Given the description of an element on the screen output the (x, y) to click on. 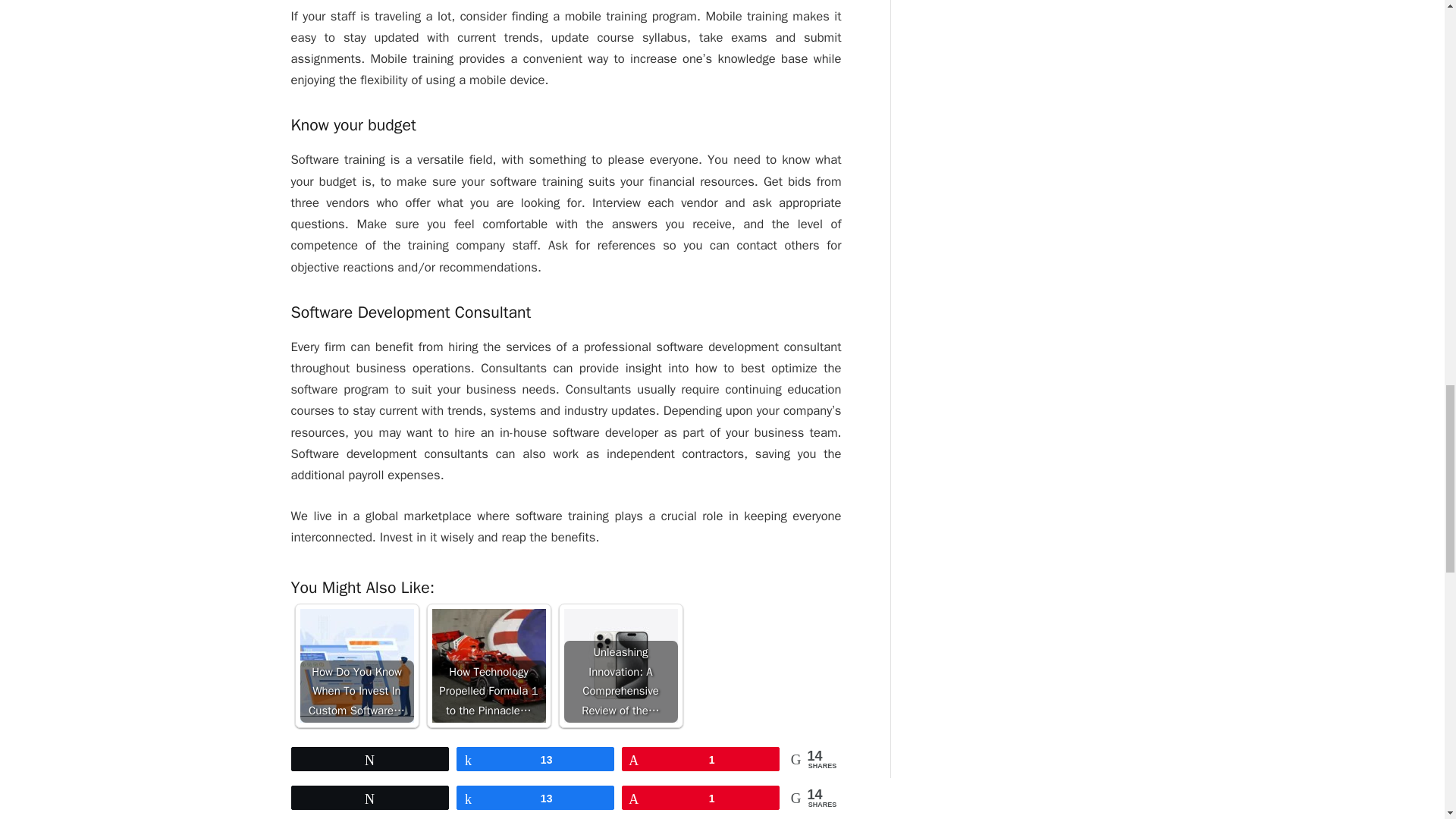
1 (700, 758)
software development consultants (626, 816)
mobile software development (341, 816)
software development (478, 816)
13 (534, 758)
